Given the description of an element on the screen output the (x, y) to click on. 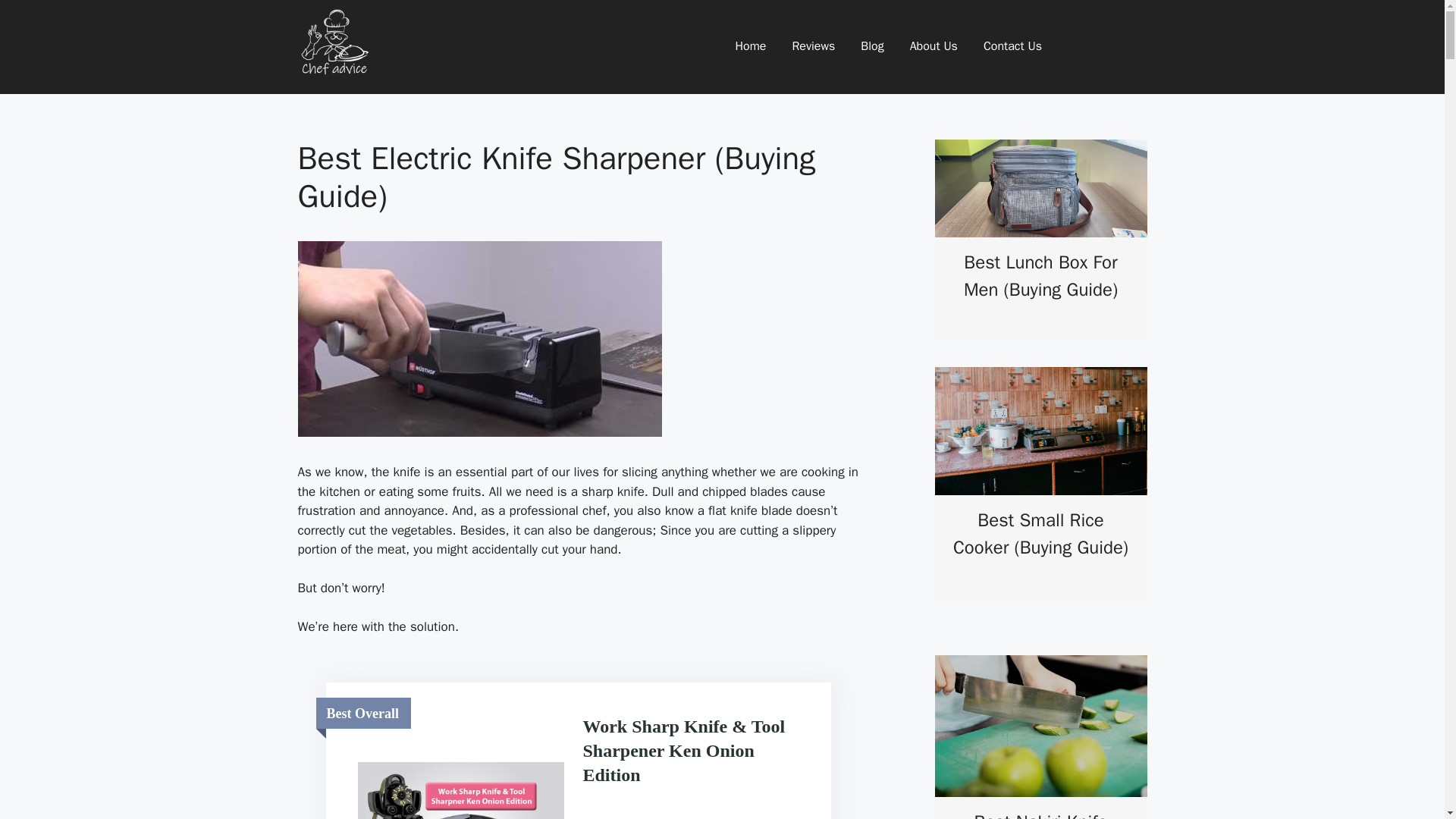
About Us (933, 46)
Contact Us (1012, 46)
Home (750, 46)
Reviews (813, 46)
